Given the description of an element on the screen output the (x, y) to click on. 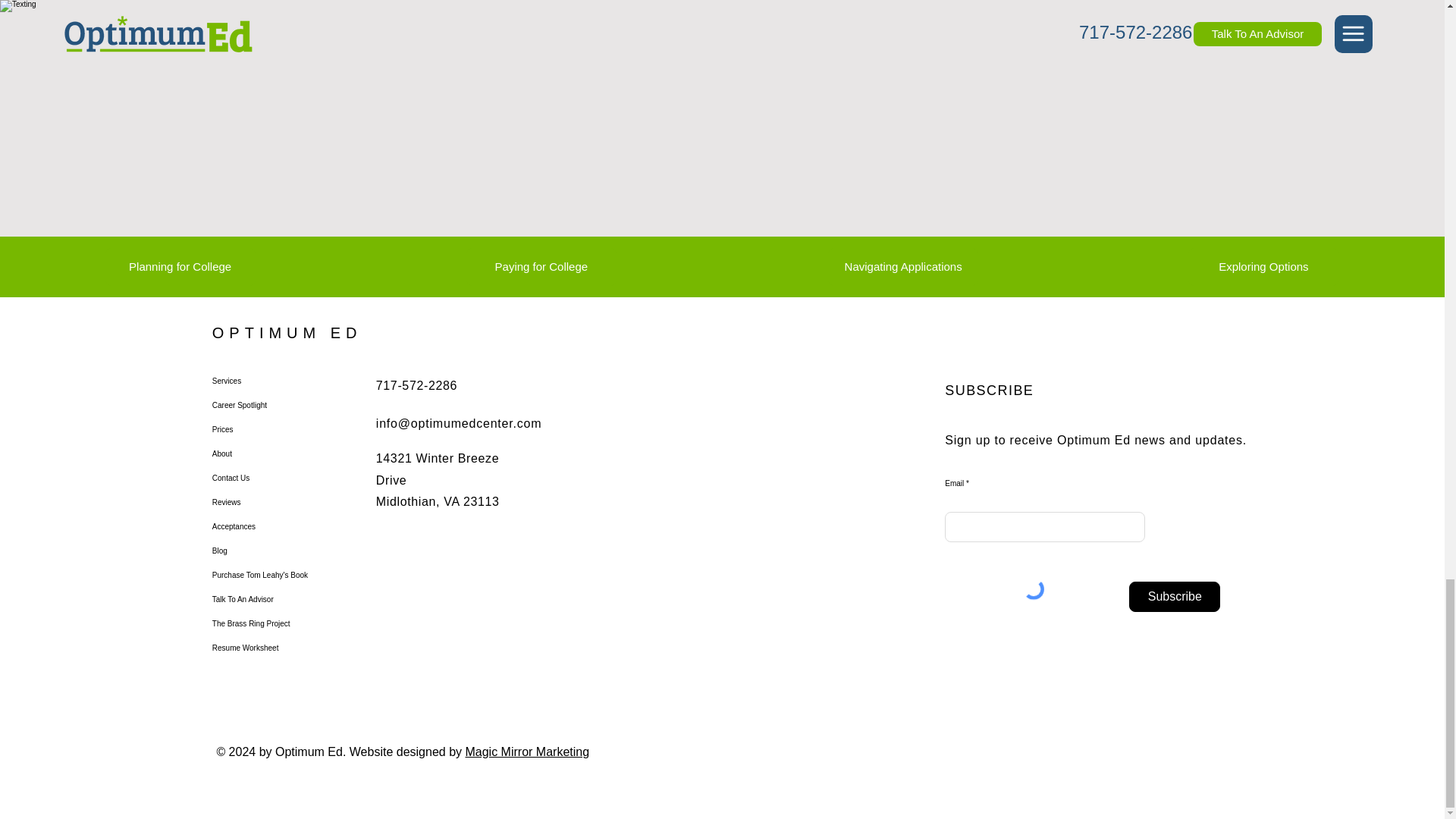
Career Spotlight (265, 405)
The Brass Ring Project (265, 623)
Talk To An Advisor (265, 599)
Prices (265, 429)
Planning for College (180, 266)
Blog (265, 550)
Reviews (265, 502)
Magic Mirror Marketing (526, 751)
OPTIMUM ED (287, 332)
Services (265, 381)
